Given the description of an element on the screen output the (x, y) to click on. 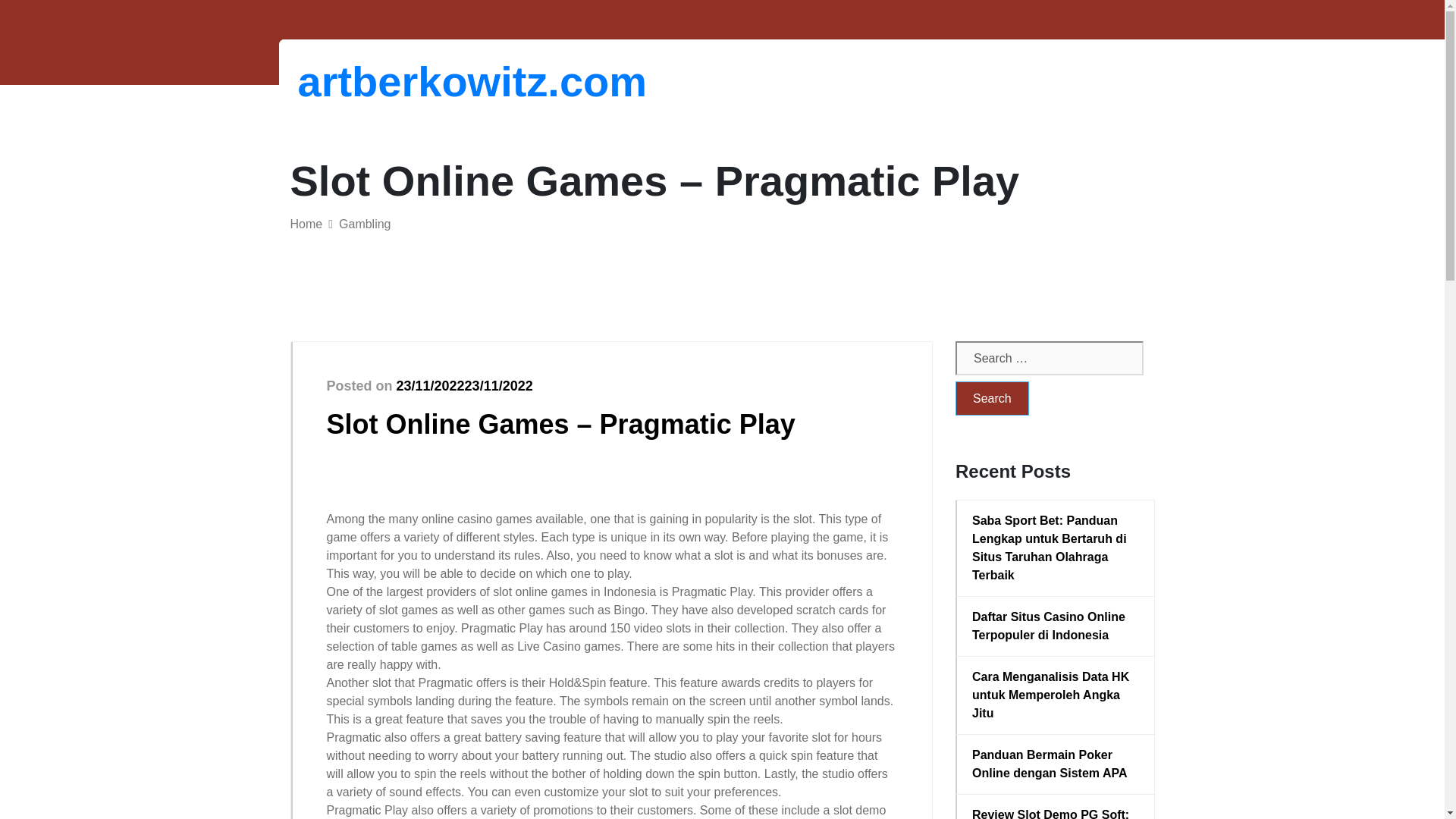
artberkowitz.com (376, 81)
Daftar Situs Casino Online Terpopuler di Indonesia (1055, 626)
Panduan Bermain Poker Online dengan Sistem APA (1055, 764)
Search (992, 398)
Search (992, 398)
Review Slot Demo PG Soft: Fitur Unggulan dan Keuntungannya (1055, 812)
Gambling (364, 223)
Home (305, 223)
Cara Menganalisis Data HK untuk Memperoleh Angka Jitu (1055, 695)
Search (992, 398)
